Given the description of an element on the screen output the (x, y) to click on. 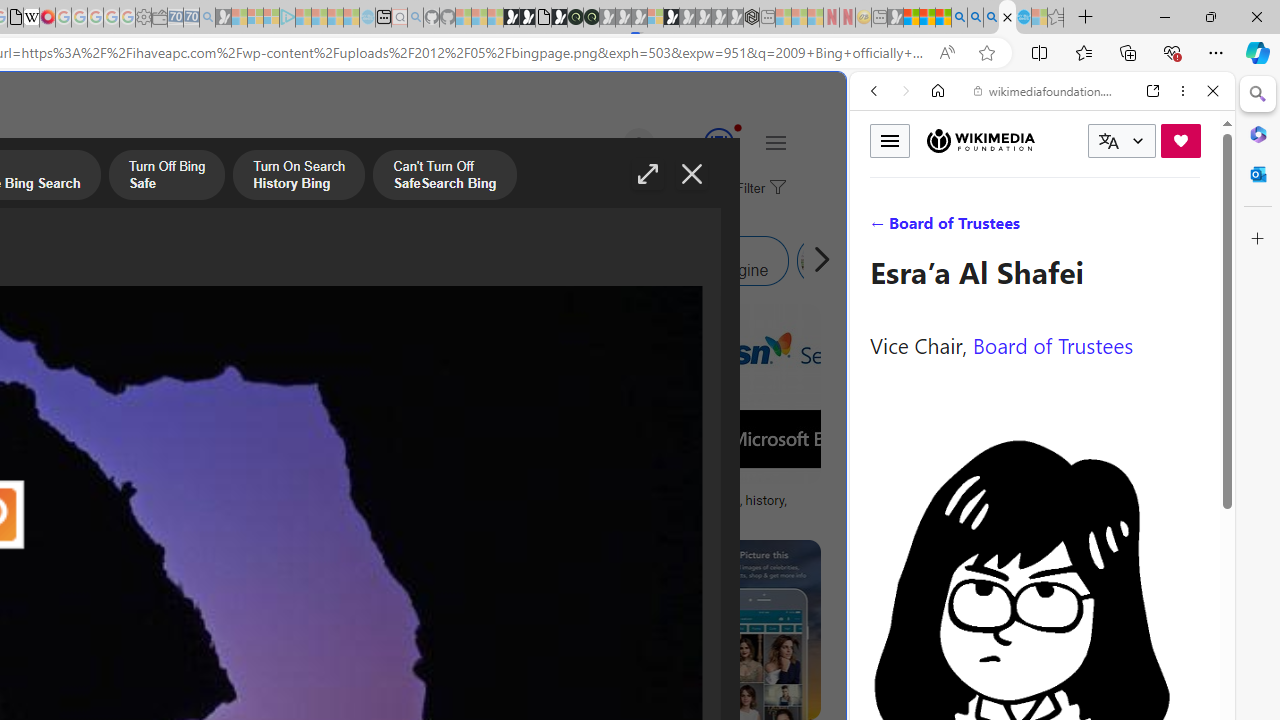
Search Filter, IMAGES (939, 228)
Home | Sky Blue Bikes - Sky Blue Bikes (687, 426)
Search the web (1051, 137)
Technology History timeline | Timetoast timelines (185, 508)
Class: i icon icon-translate language-switcher__icon (1108, 141)
Filter (758, 189)
